Given the description of an element on the screen output the (x, y) to click on. 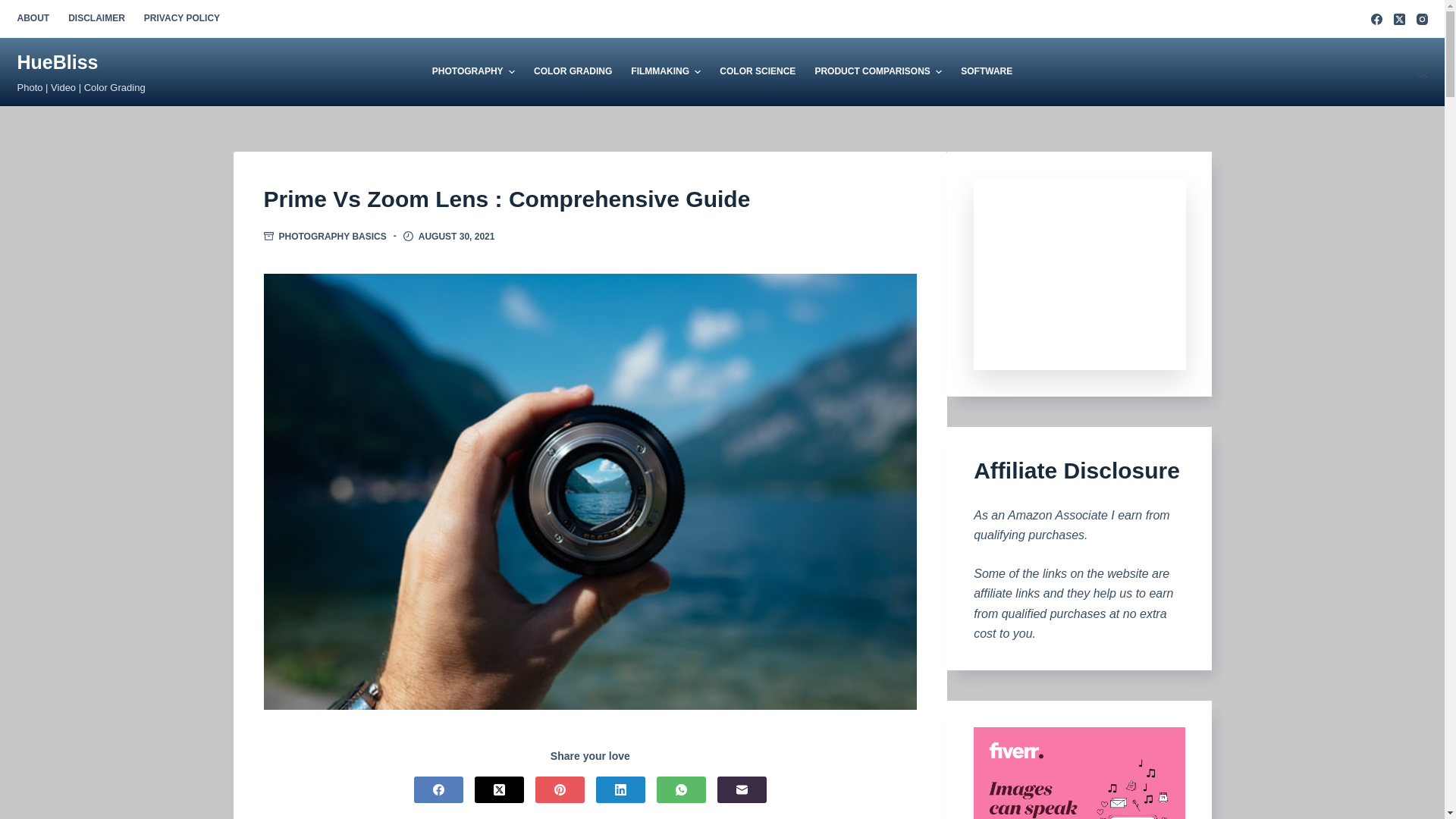
COLOR SCIENCE (757, 71)
ABOUT (37, 18)
Prime Vs Zoom Lens : Comprehensive Guide (590, 198)
COLOR GRADING (572, 71)
PRIVACY POLICY (176, 18)
FILMMAKING (665, 71)
Skip to content (15, 7)
PHOTOGRAPHY (478, 71)
HueBliss (56, 61)
DISCLAIMER (97, 18)
